Given the description of an element on the screen output the (x, y) to click on. 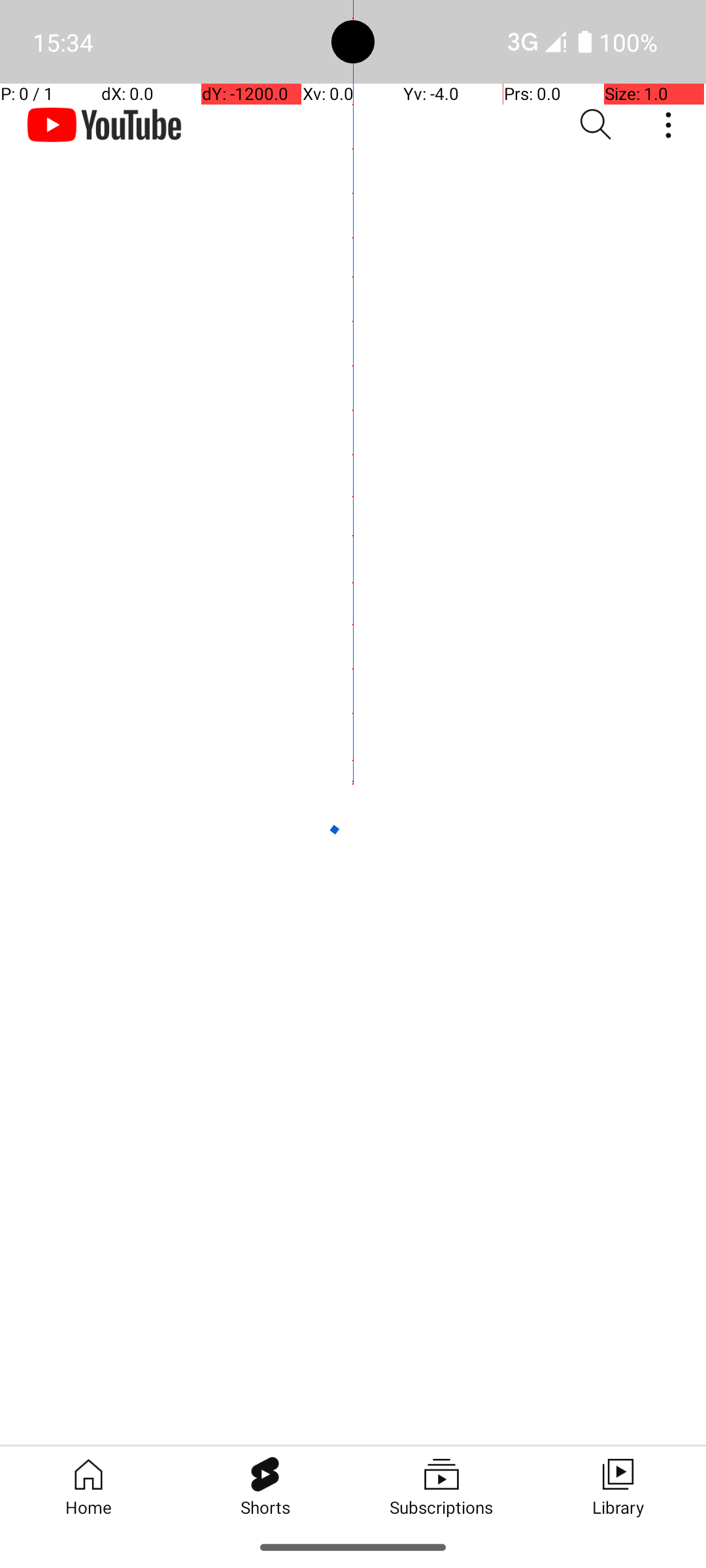
Shorts Element type: android.widget.Button (264, 1485)
Subscriptions Element type: android.widget.Button (441, 1485)
Library Element type: android.widget.Button (617, 1485)
